Given the description of an element on the screen output the (x, y) to click on. 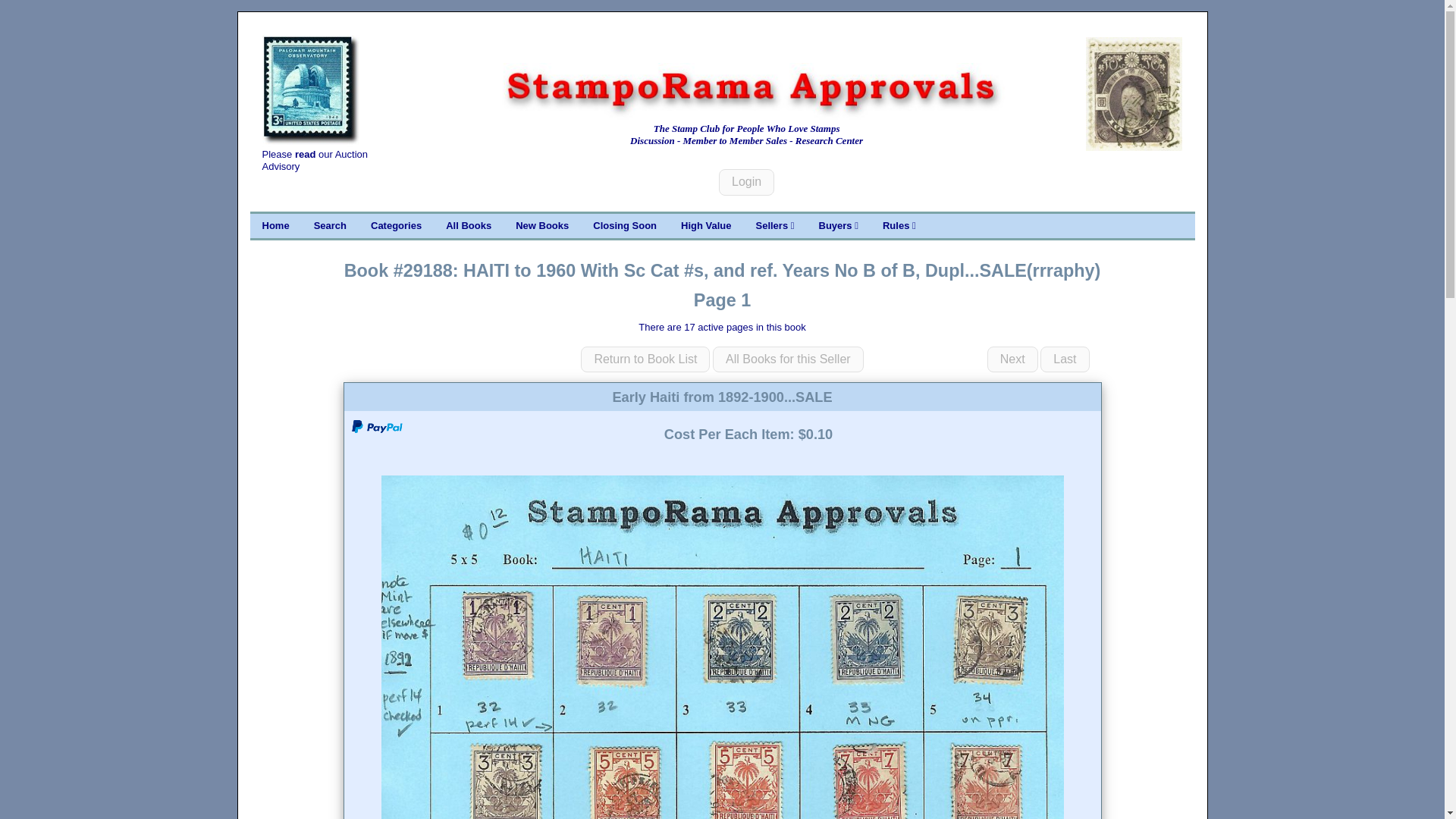
High Value (705, 225)
Buyers (838, 225)
All Books for this Seller (788, 359)
Return to Book List (645, 359)
read (305, 153)
Home (275, 225)
Sellers (774, 225)
New Books (541, 225)
Login (746, 181)
Closing Soon (624, 225)
Rules (899, 225)
Categories (395, 225)
Search (329, 225)
All Books (468, 225)
